Given the description of an element on the screen output the (x, y) to click on. 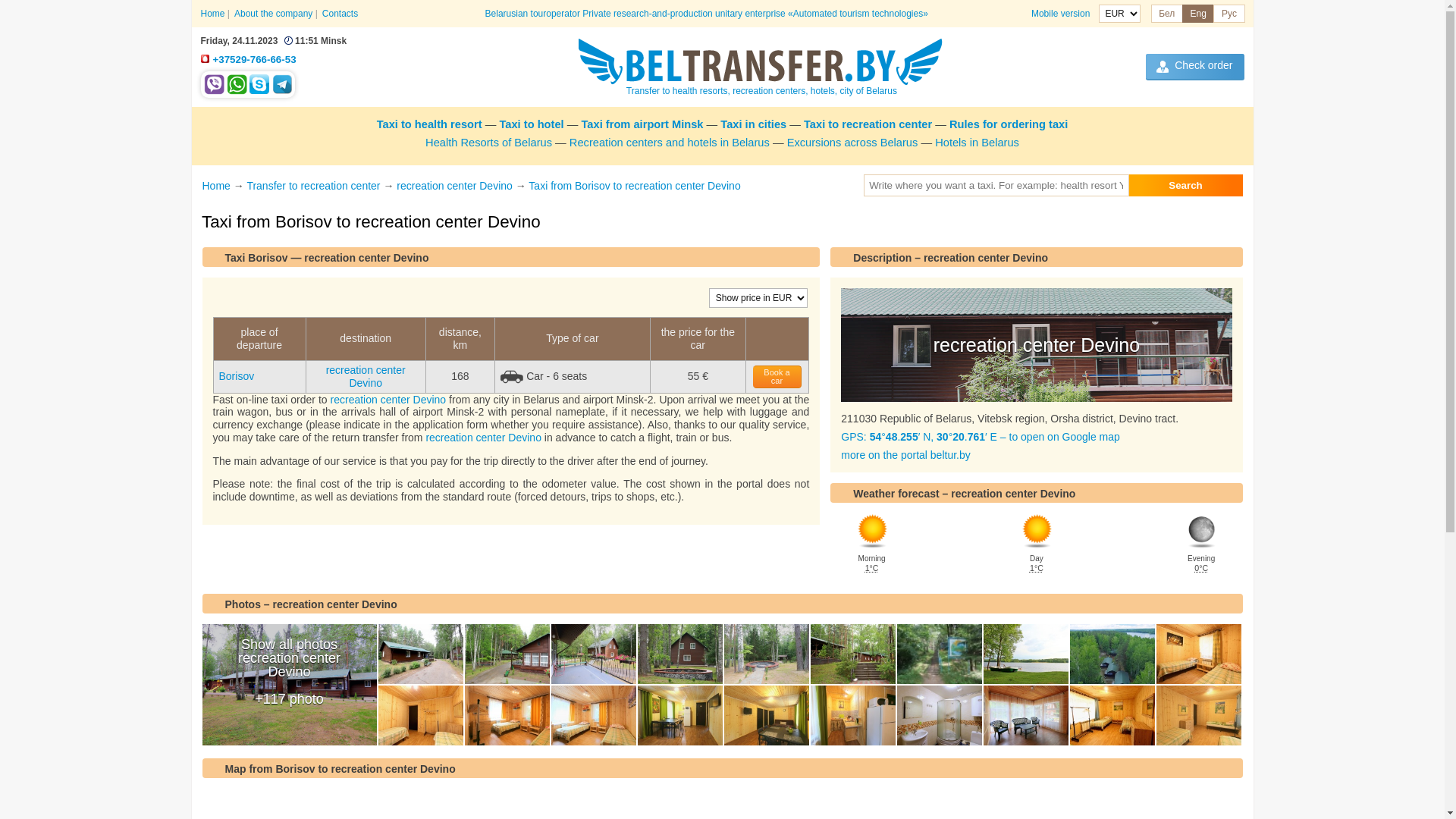
Taxi to recreation center Element type: text (867, 124)
Health Resorts of Belarus Element type: text (488, 142)
Rules for ordering taxi Element type: text (1008, 124)
Search Element type: text (1185, 185)
Devino  Element type: hover (592, 715)
Devino  Element type: hover (592, 654)
recreation center Devino Element type: text (365, 376)
Devino  Element type: hover (1111, 715)
Transfer to recreation center Element type: text (312, 185)
Devino  Element type: hover (419, 654)
Hotels in Belarus Element type: text (977, 142)
Show all photos recreation center Devino
+117 photo Element type: text (288, 684)
Contacts Element type: text (339, 13)
Mobile version Element type: text (1060, 13)
Eng Element type: text (1198, 13)
recreation center Devino Element type: text (388, 398)
Devino  Element type: hover (938, 654)
Home Element type: text (215, 185)
Book a car Element type: text (777, 376)
Taxi to hotel Element type: text (530, 124)
Check order Element type: text (1194, 66)
Borisov Element type: text (236, 376)
+37529-766-66-53 Element type: text (253, 59)
Recreation centers and hotels in Belarus Element type: text (669, 142)
Devino  Element type: hover (1197, 654)
Taxi to health resort Element type: text (429, 124)
Devino  Element type: hover (851, 654)
Devino  Element type: hover (1197, 715)
Taxi in cities Element type: text (753, 124)
About the company Element type: text (273, 13)
Devino  Element type: hover (679, 715)
recreation center Devino Element type: text (1035, 344)
Taxi from airport Minsk Element type: text (641, 124)
Taxi from Borisov to recreation center Devino Element type: text (634, 185)
recreation center Devino Element type: text (454, 185)
Excursions across Belarus Element type: text (852, 142)
Devino  Element type: hover (938, 715)
Devino  Element type: hover (1111, 654)
Devino  Element type: hover (765, 715)
Home Element type: text (212, 13)
Devino  Element type: hover (1024, 654)
Devino  Element type: hover (419, 715)
Devino  Element type: hover (851, 715)
Devino  Element type: hover (506, 654)
more on the portal beltur.by Element type: text (904, 454)
Devino  Element type: hover (765, 654)
Devino  Element type: hover (679, 654)
Devino  Element type: hover (506, 715)
recreation center Devino Element type: text (483, 437)
Devino  Element type: hover (1024, 715)
